Given the description of an element on the screen output the (x, y) to click on. 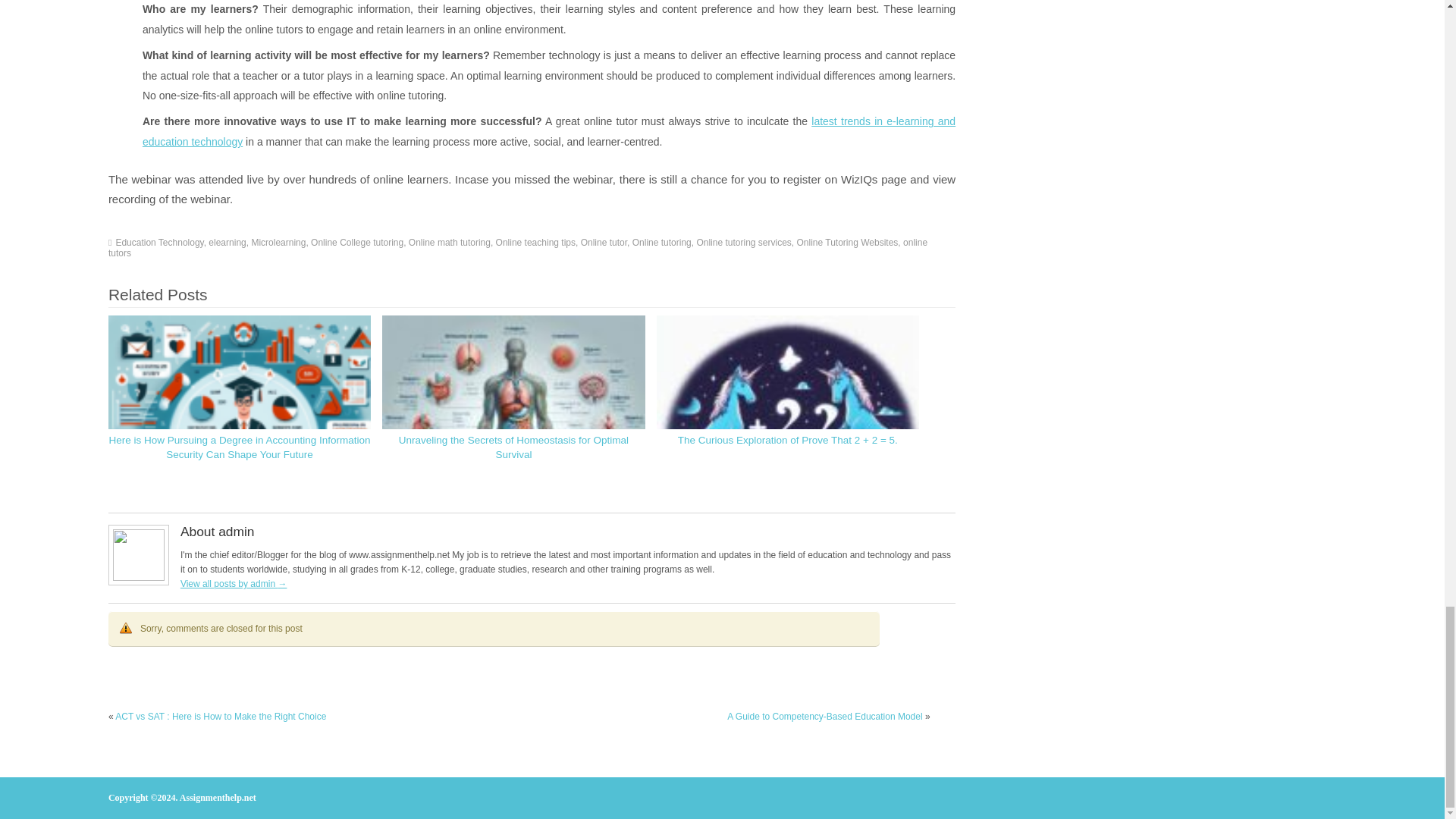
Unraveling the Secrets of Homeostasis for Optimal Survival (513, 447)
Unraveling the Secrets of Homeostasis for Optimal Survival (513, 446)
